Given the description of an element on the screen output the (x, y) to click on. 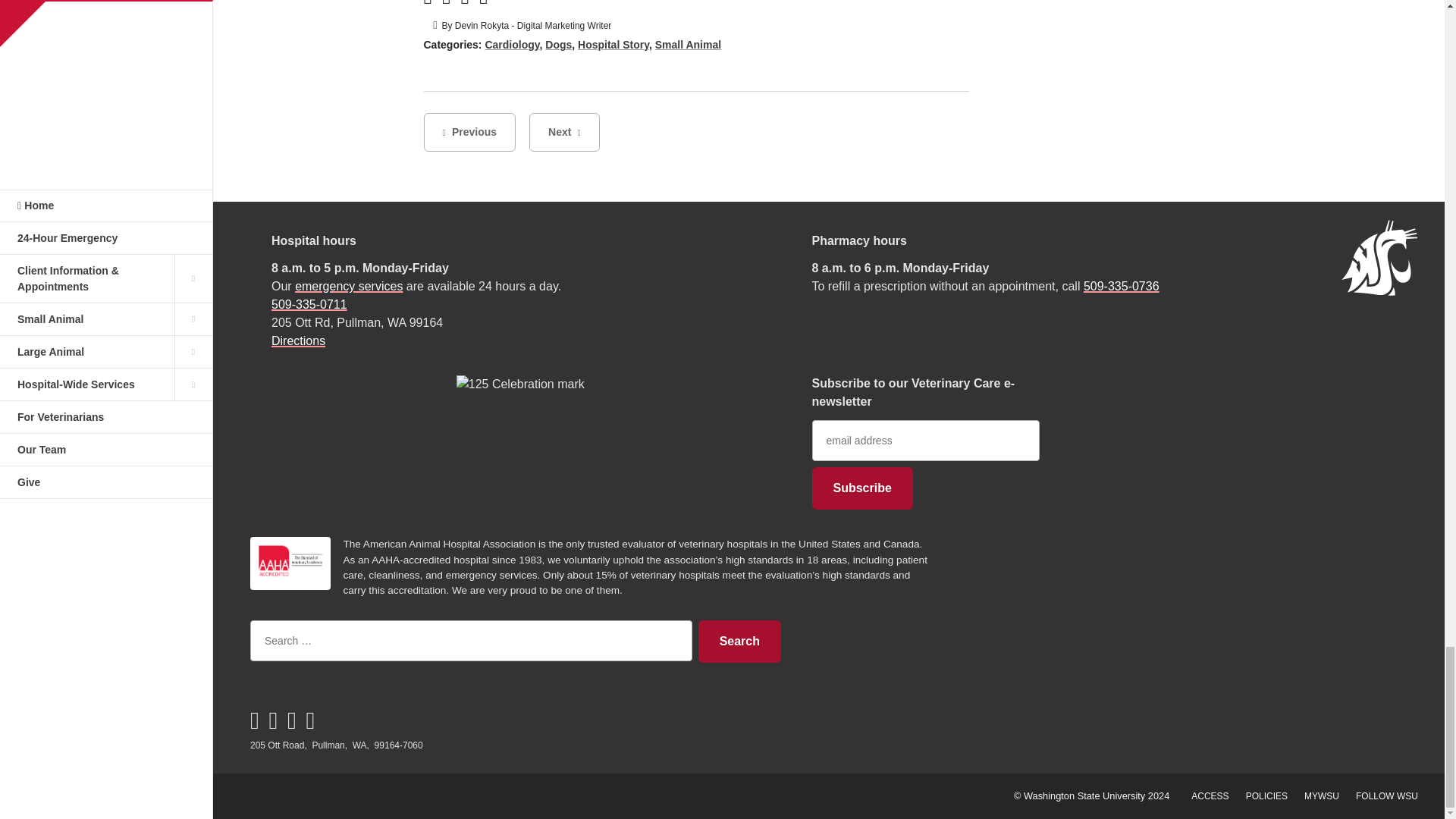
Search (739, 640)
Subscribe (861, 487)
Search (739, 640)
